Given the description of an element on the screen output the (x, y) to click on. 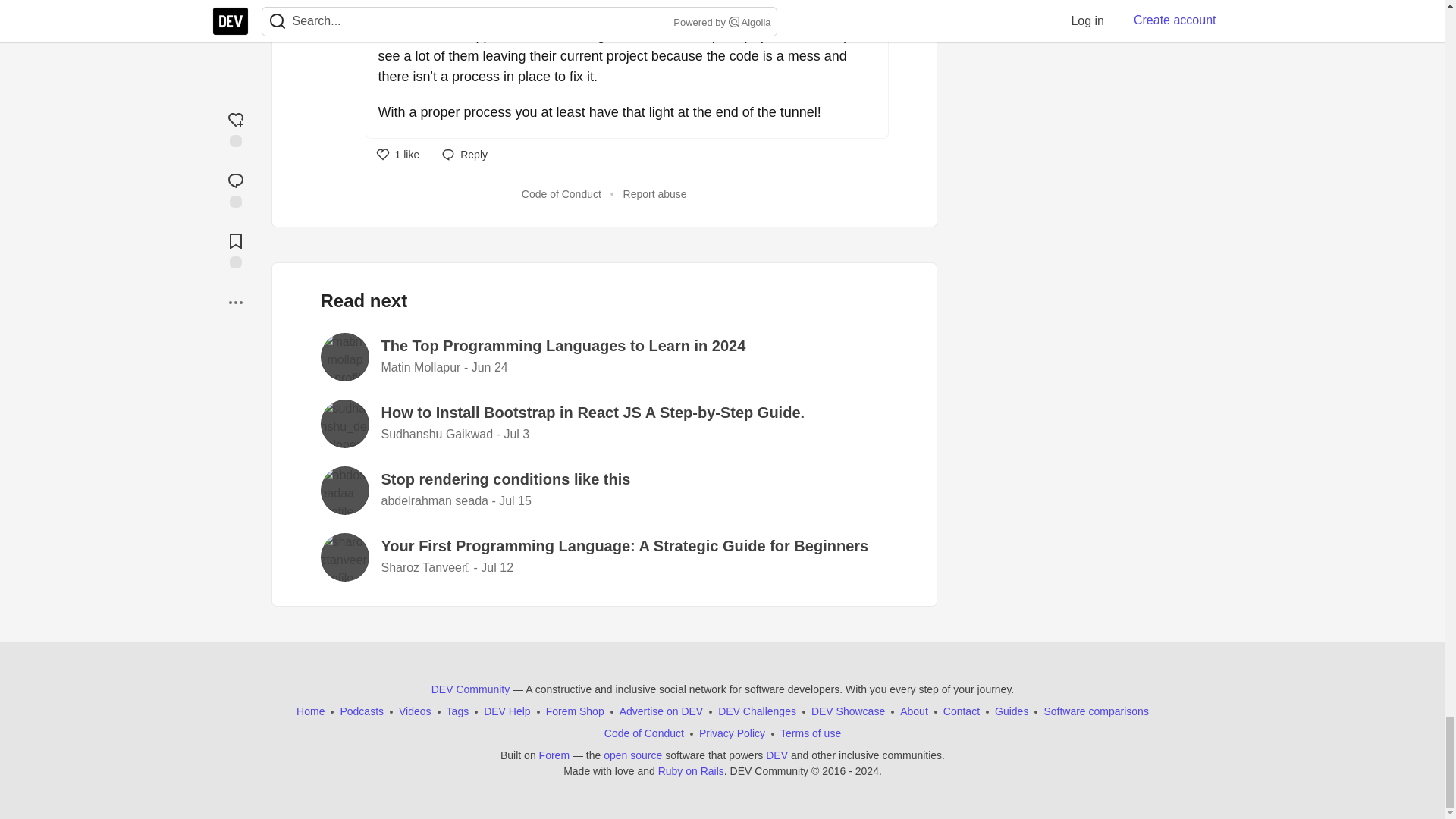
Monday, October 28, 2019 at 5:29:10 PM (495, 5)
Dropdown menu (870, 4)
